Given the description of an element on the screen output the (x, y) to click on. 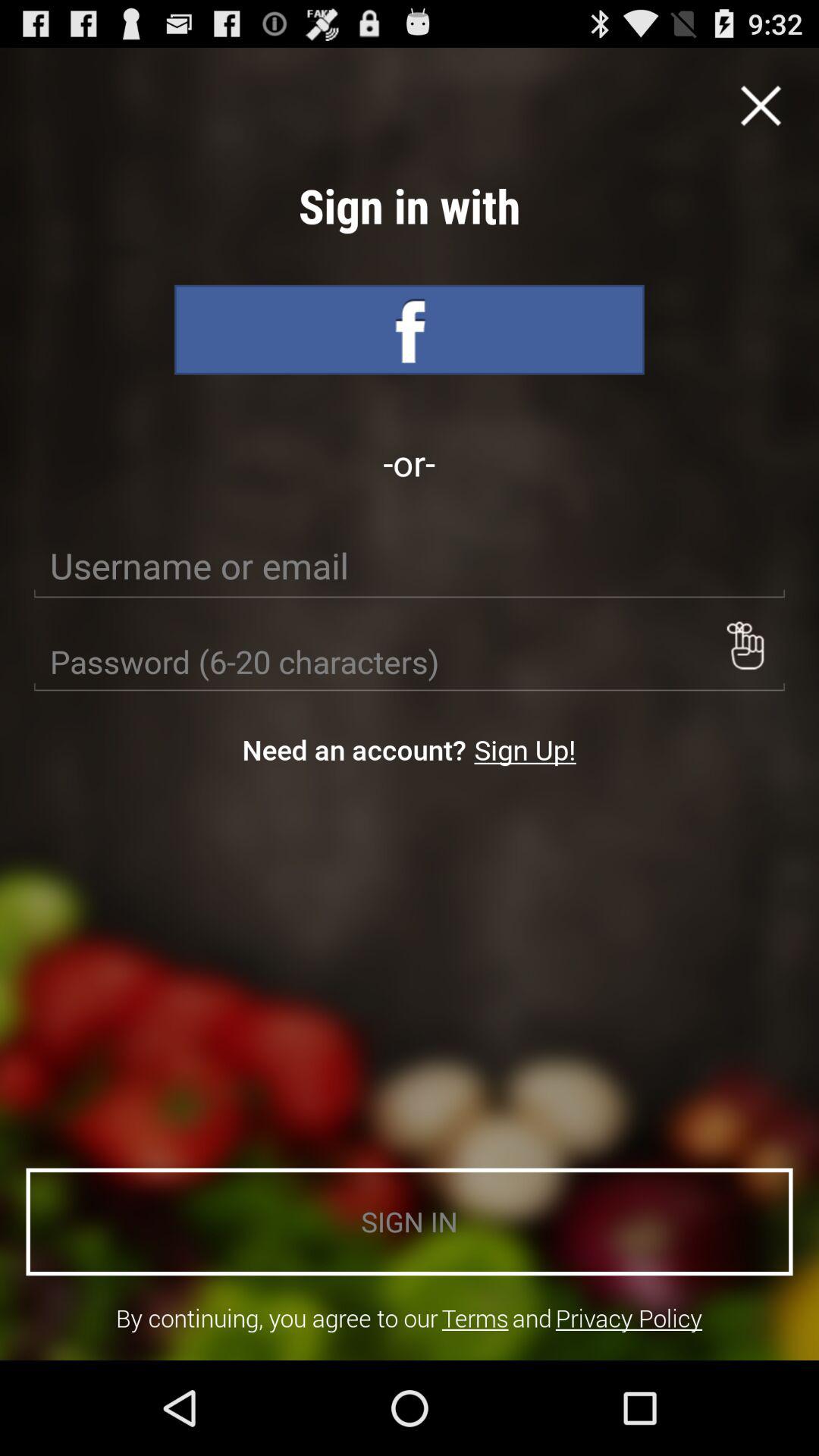
click the item next to and item (474, 1317)
